Given the description of an element on the screen output the (x, y) to click on. 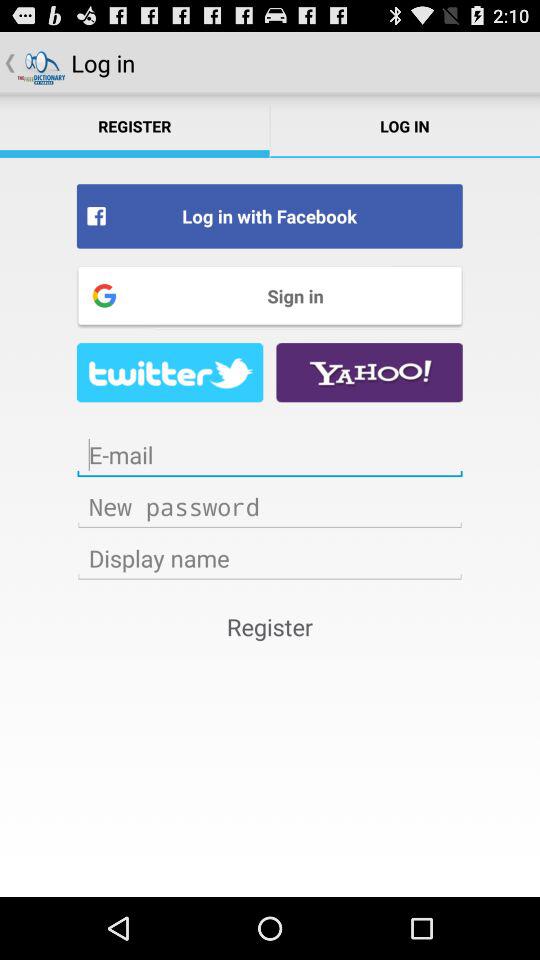
login button (269, 506)
